Given the description of an element on the screen output the (x, y) to click on. 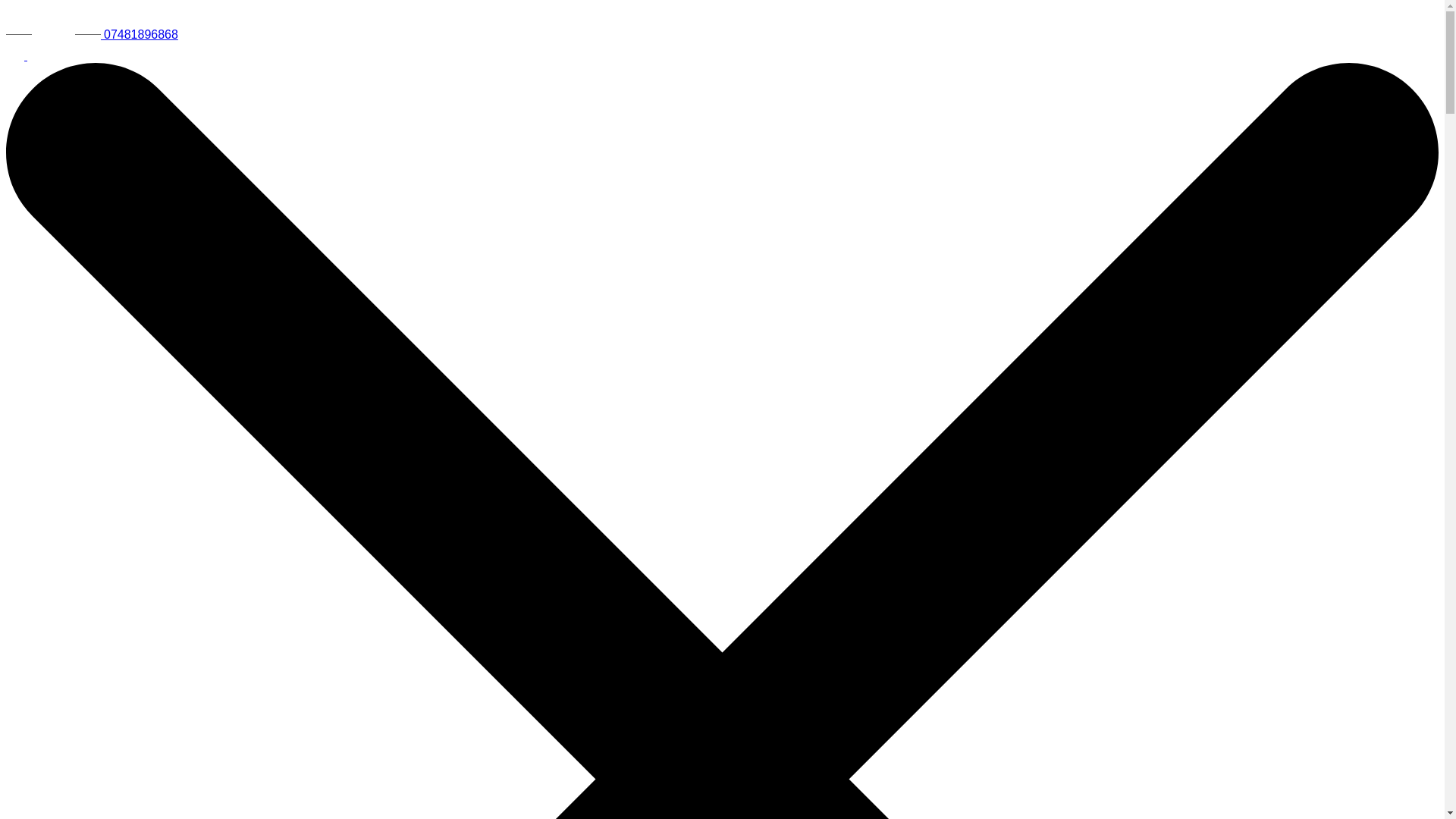
07481896868 (140, 33)
MOVIDA Escort (54, 33)
